Given the description of an element on the screen output the (x, y) to click on. 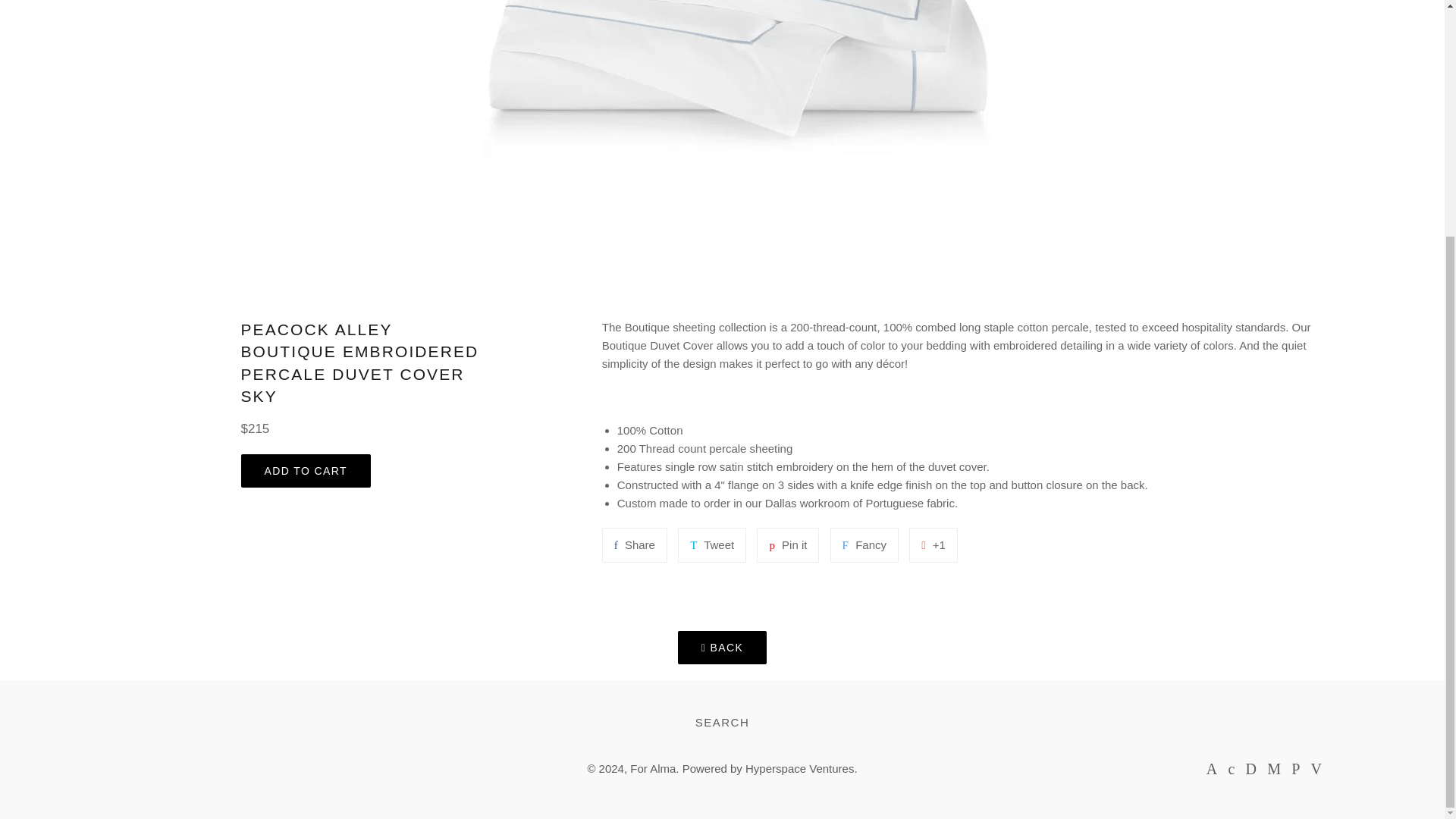
SEARCH (722, 721)
Share on Facebook (634, 544)
Add to Fancy (863, 544)
Pin on Pinterest (787, 544)
For Alma (652, 768)
BACK (634, 544)
Tweet on Twitter (787, 544)
